Given the description of an element on the screen output the (x, y) to click on. 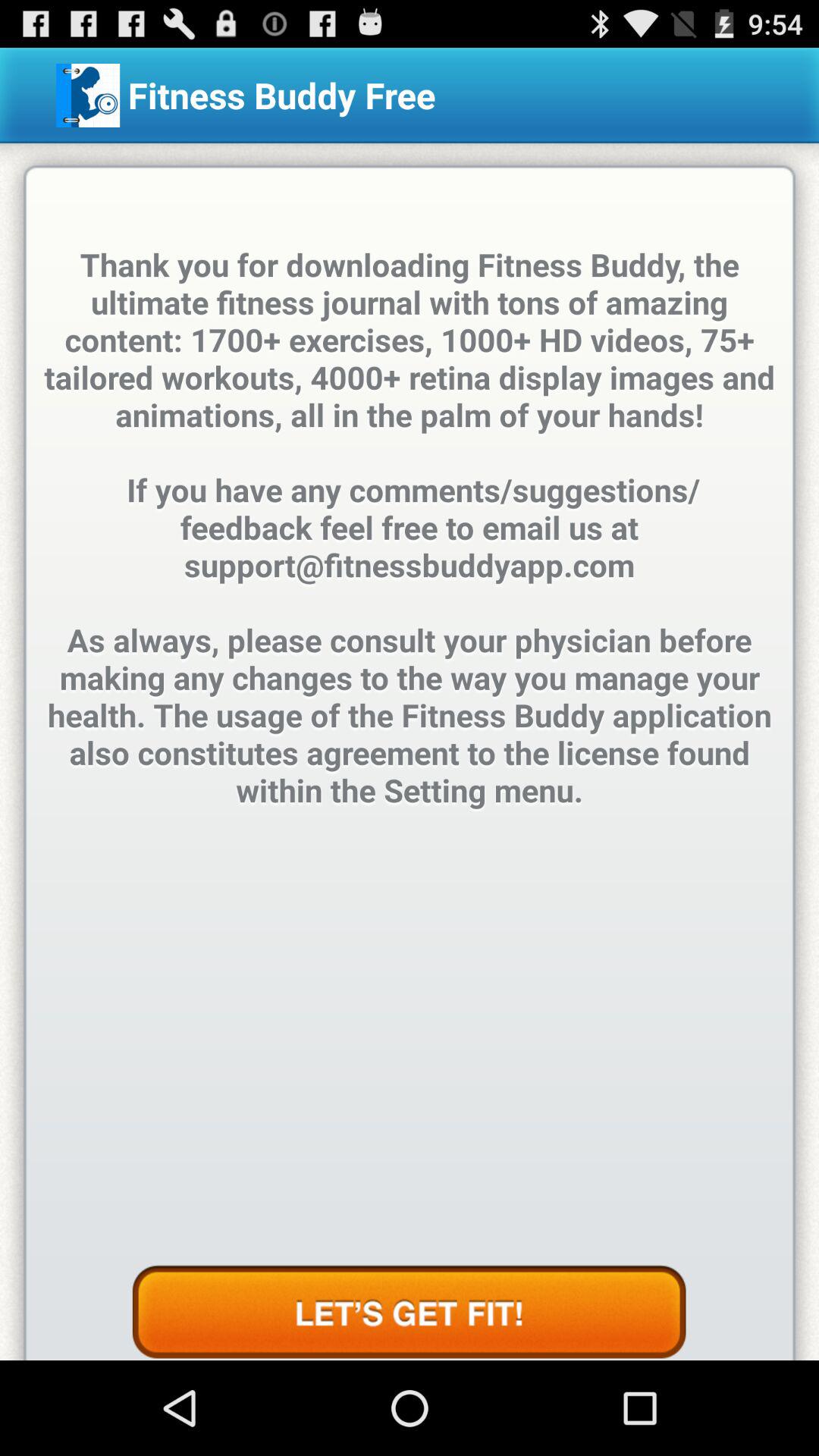
etc (408, 1312)
